Given the description of an element on the screen output the (x, y) to click on. 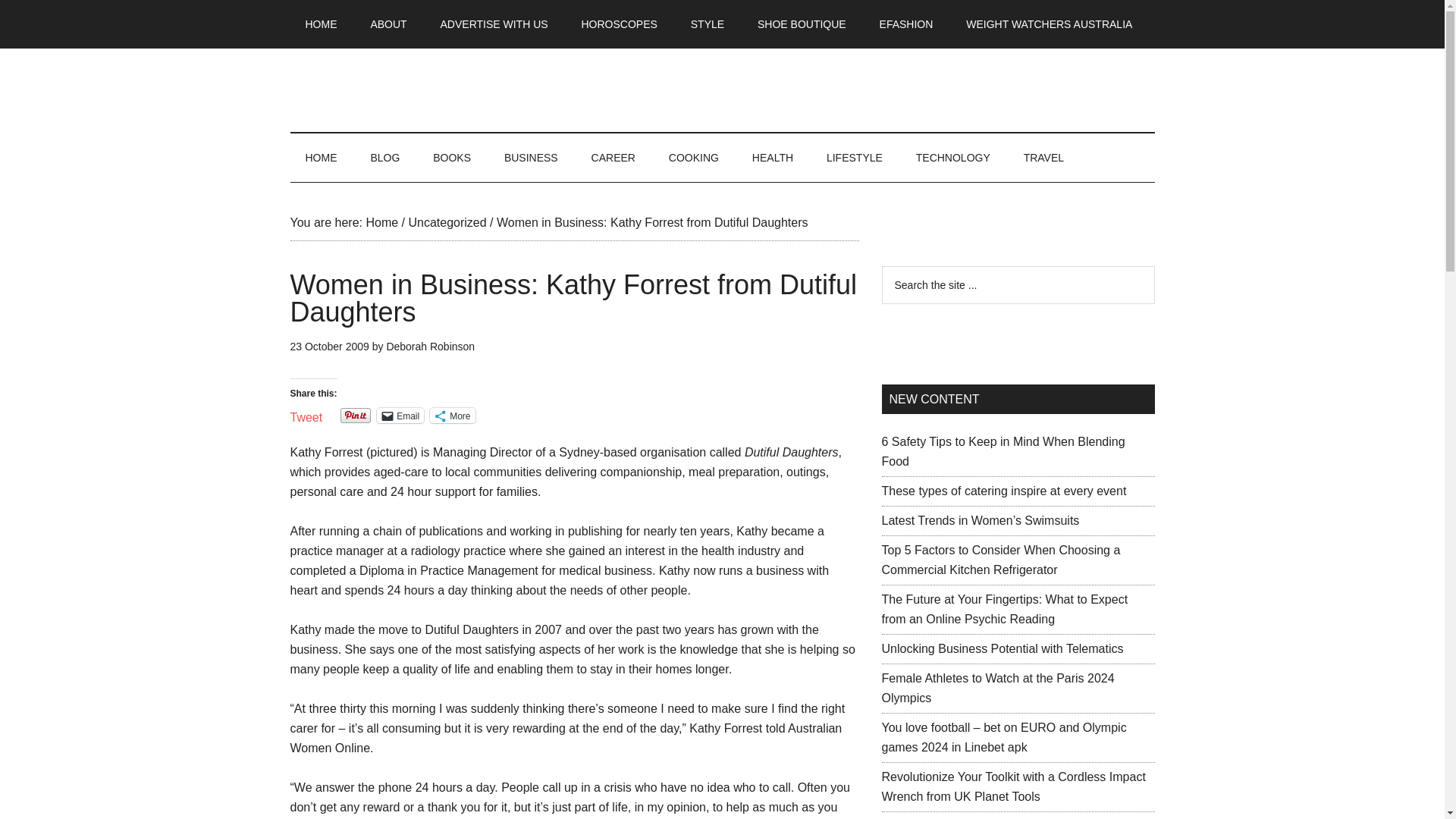
Home (381, 222)
Email (400, 415)
Uncategorized (446, 222)
ADVERTISE WITH US (494, 24)
BOOKS (451, 157)
HOME (320, 157)
Deborah Robinson (429, 346)
HOME (320, 24)
TRAVEL (1043, 157)
ABOUT (388, 24)
